Given the description of an element on the screen output the (x, y) to click on. 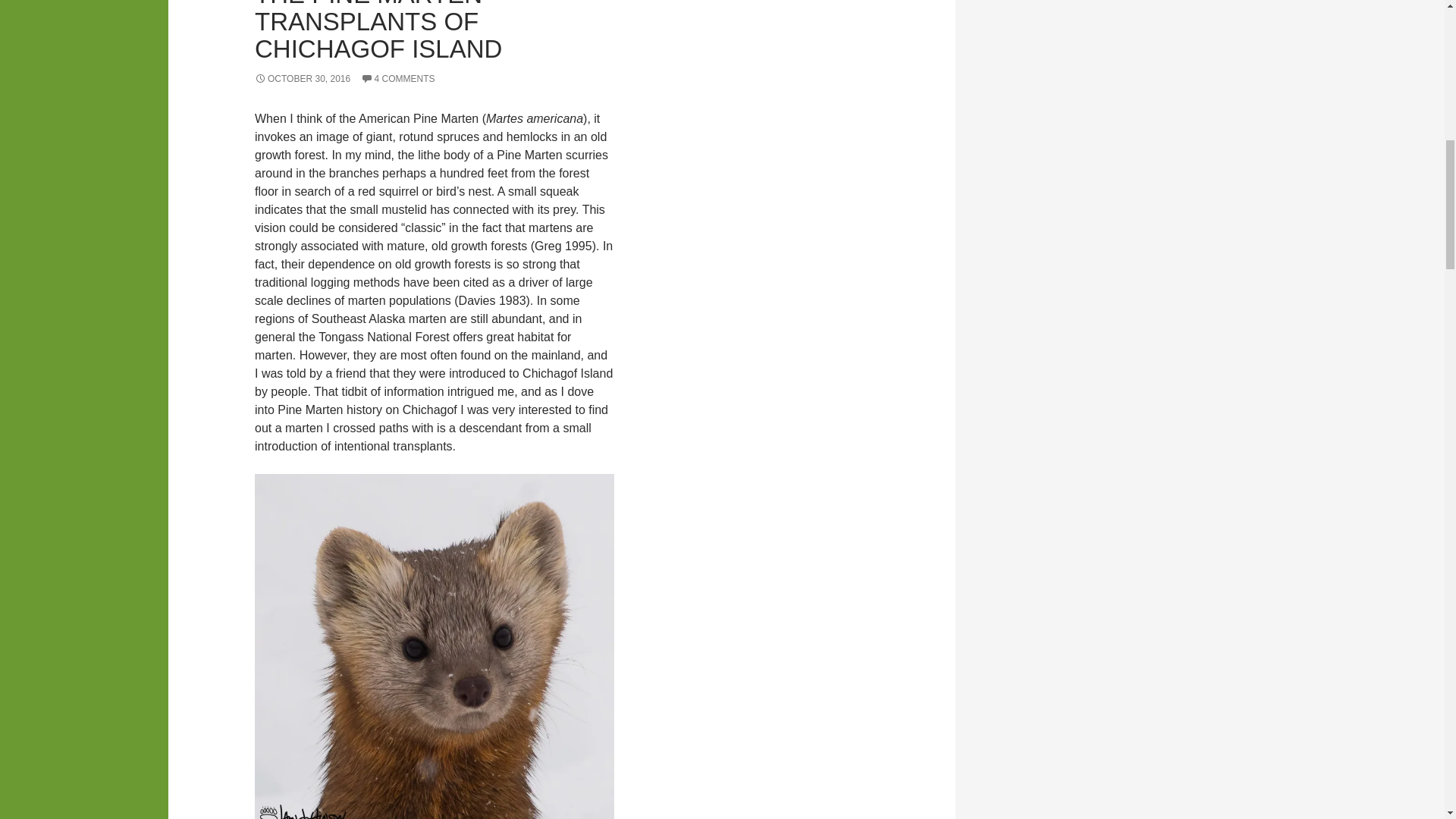
THE PINE MARTEN TRANSPLANTS OF CHICHAGOF ISLAND (378, 31)
4 COMMENTS (398, 78)
OCTOBER 30, 2016 (302, 78)
